Given the description of an element on the screen output the (x, y) to click on. 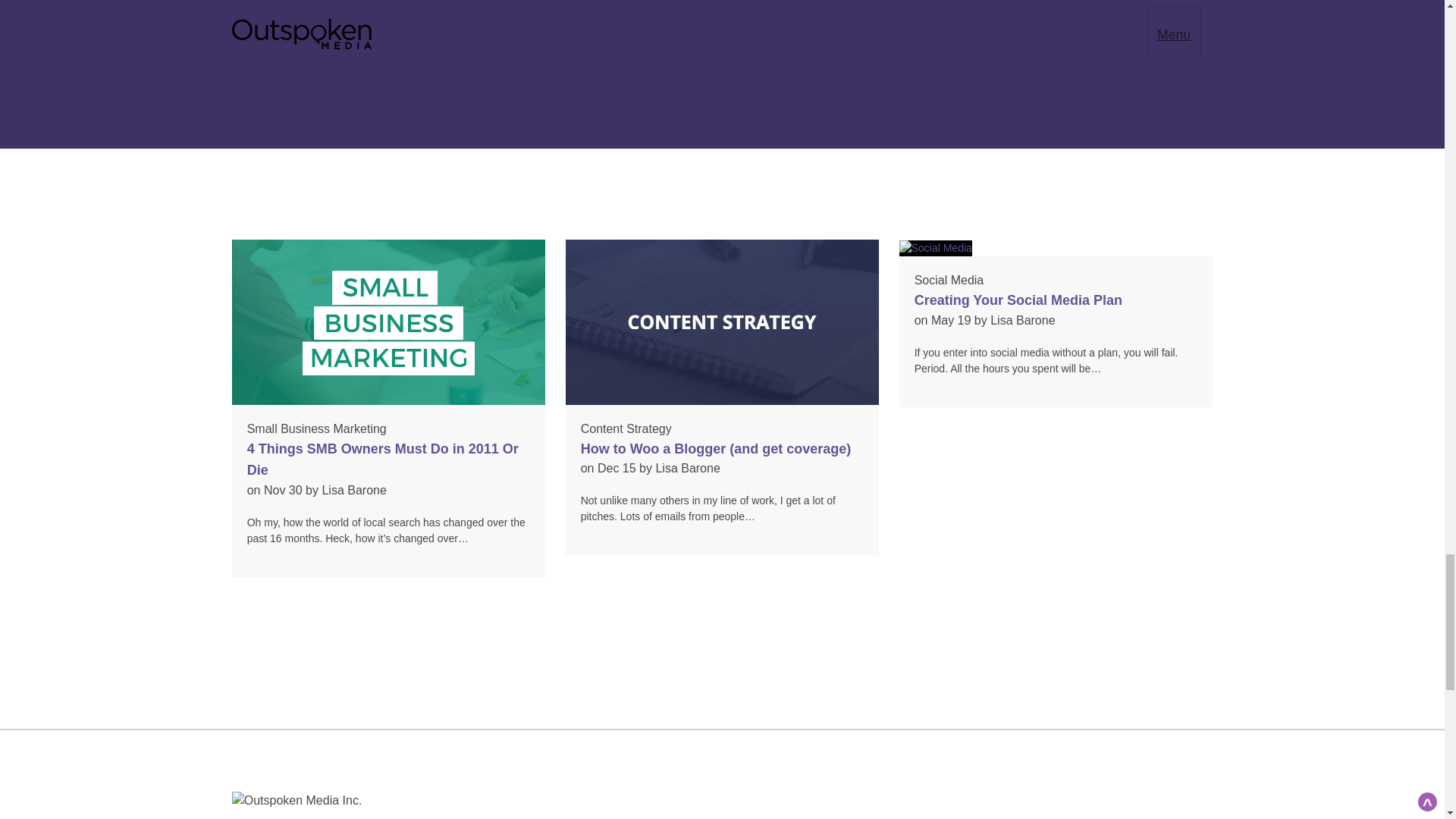
4 Things SMB Owners Must Do in 2011 Or Die (382, 459)
Small Business Marketing (317, 428)
Content Strategy (625, 428)
Social Media (949, 279)
Creating Your Social Media Plan (1018, 299)
